Given the description of an element on the screen output the (x, y) to click on. 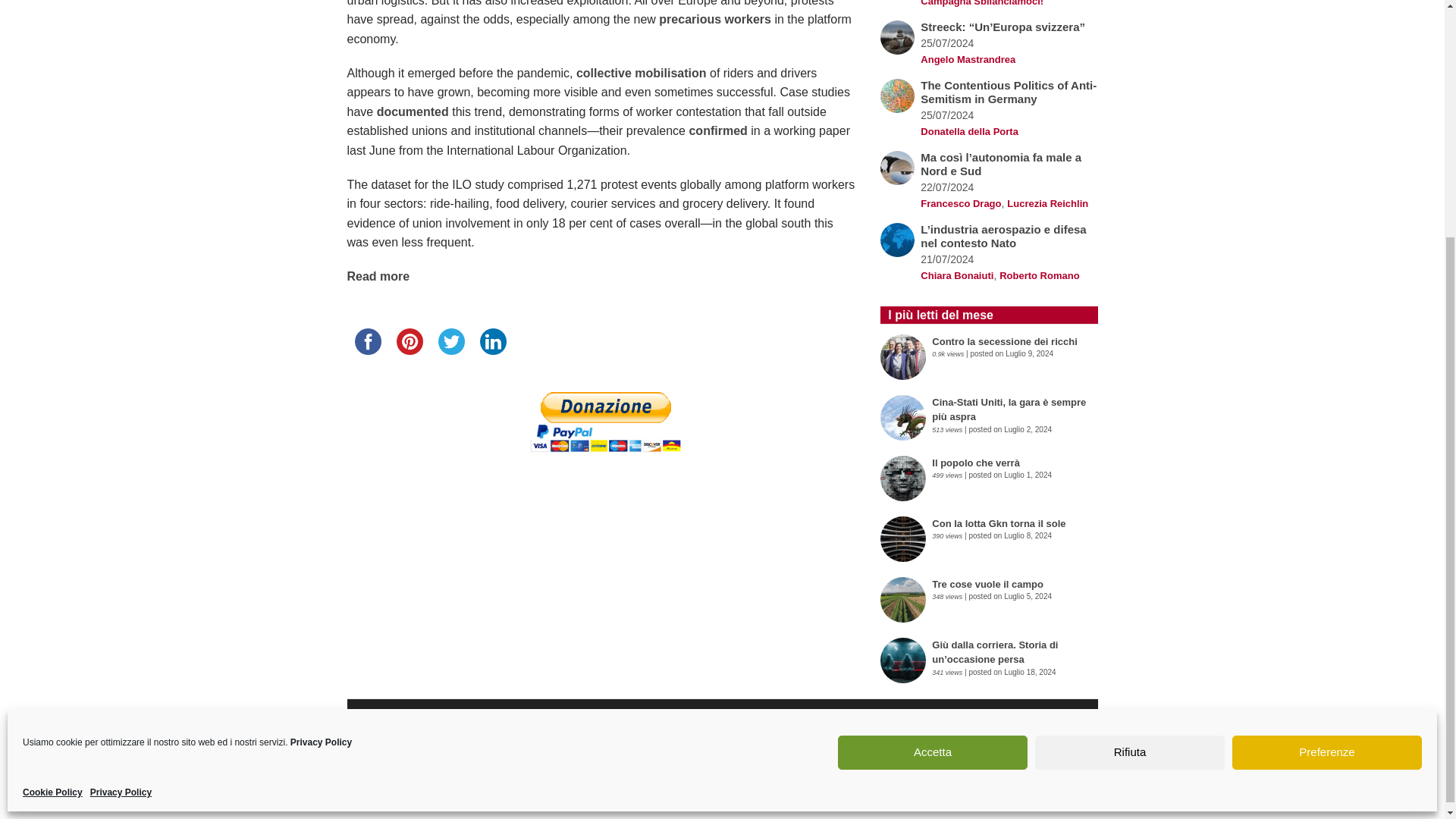
PayPal - The safer, easier way to pay online! (605, 422)
pinterest (408, 341)
twitter (450, 341)
linkedin (492, 341)
facebook (367, 341)
